Given the description of an element on the screen output the (x, y) to click on. 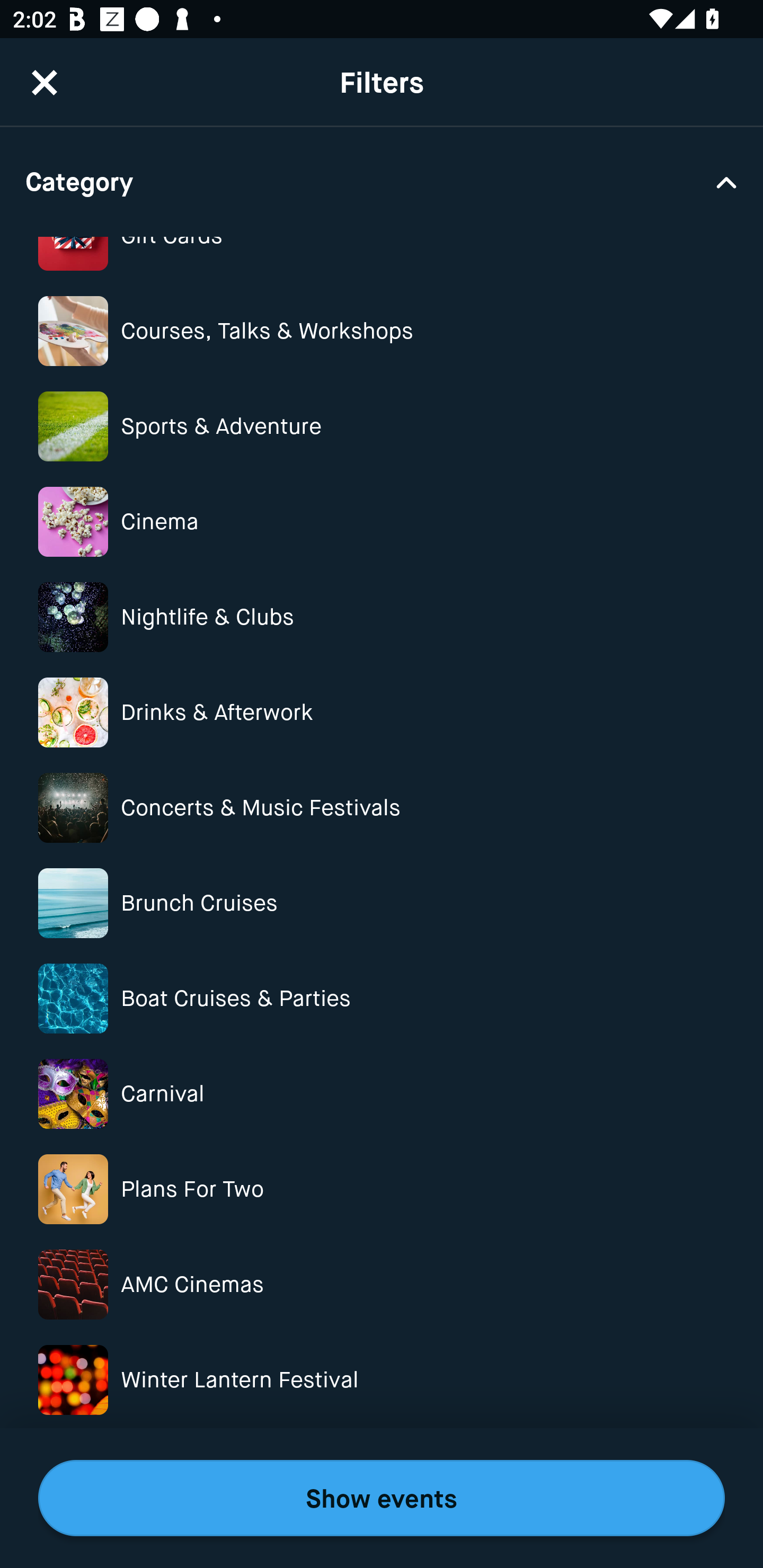
CloseButton (44, 69)
Category Drop Down Arrow (381, 181)
Category Image Courses, Talks & Workshops (381, 330)
Category Image Sports & Adventure (381, 426)
Category Image Cinema (381, 520)
Category Image Nightlife & Clubs (381, 616)
Category Image Drinks & Afterwork (381, 712)
Category Image Concerts & Music Festivals (381, 807)
Category Image Brunch Cruises (381, 902)
Category Image Boat Cruises & Parties (381, 997)
Category Image Carnival (381, 1093)
Category Image Plans For Two (381, 1188)
Category Image AMC Cinemas (381, 1284)
Category Image Winter Lantern Festival (381, 1379)
Show events (381, 1497)
